Given the description of an element on the screen output the (x, y) to click on. 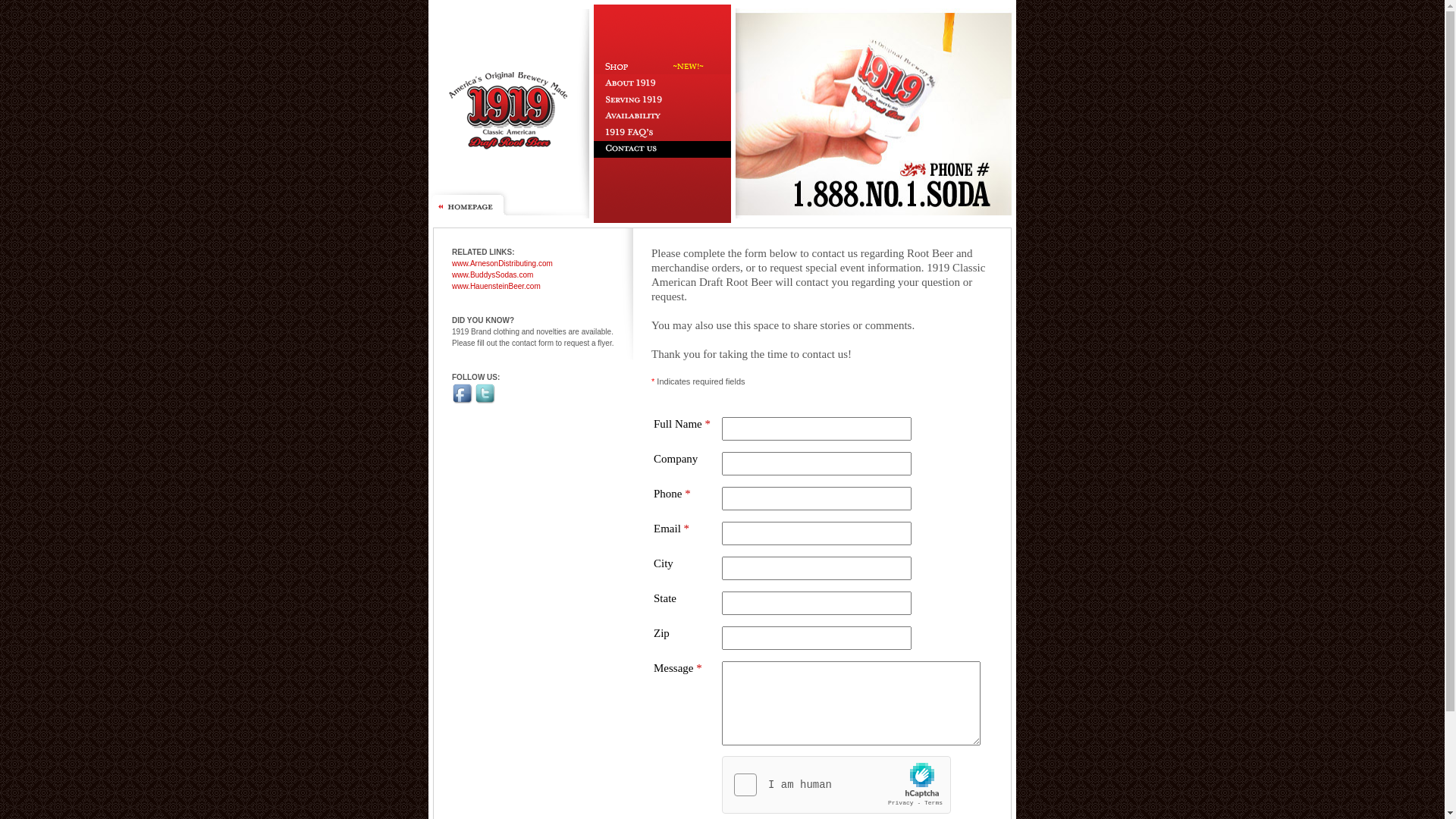
www.HauensteinBeer.com Element type: text (495, 286)
www.ArnesonDistributing.com Element type: text (501, 263)
Widget containing checkbox for hCaptcha security challenge Element type: hover (836, 785)
www.BuddysSodas.com Element type: text (492, 274)
